Given the description of an element on the screen output the (x, y) to click on. 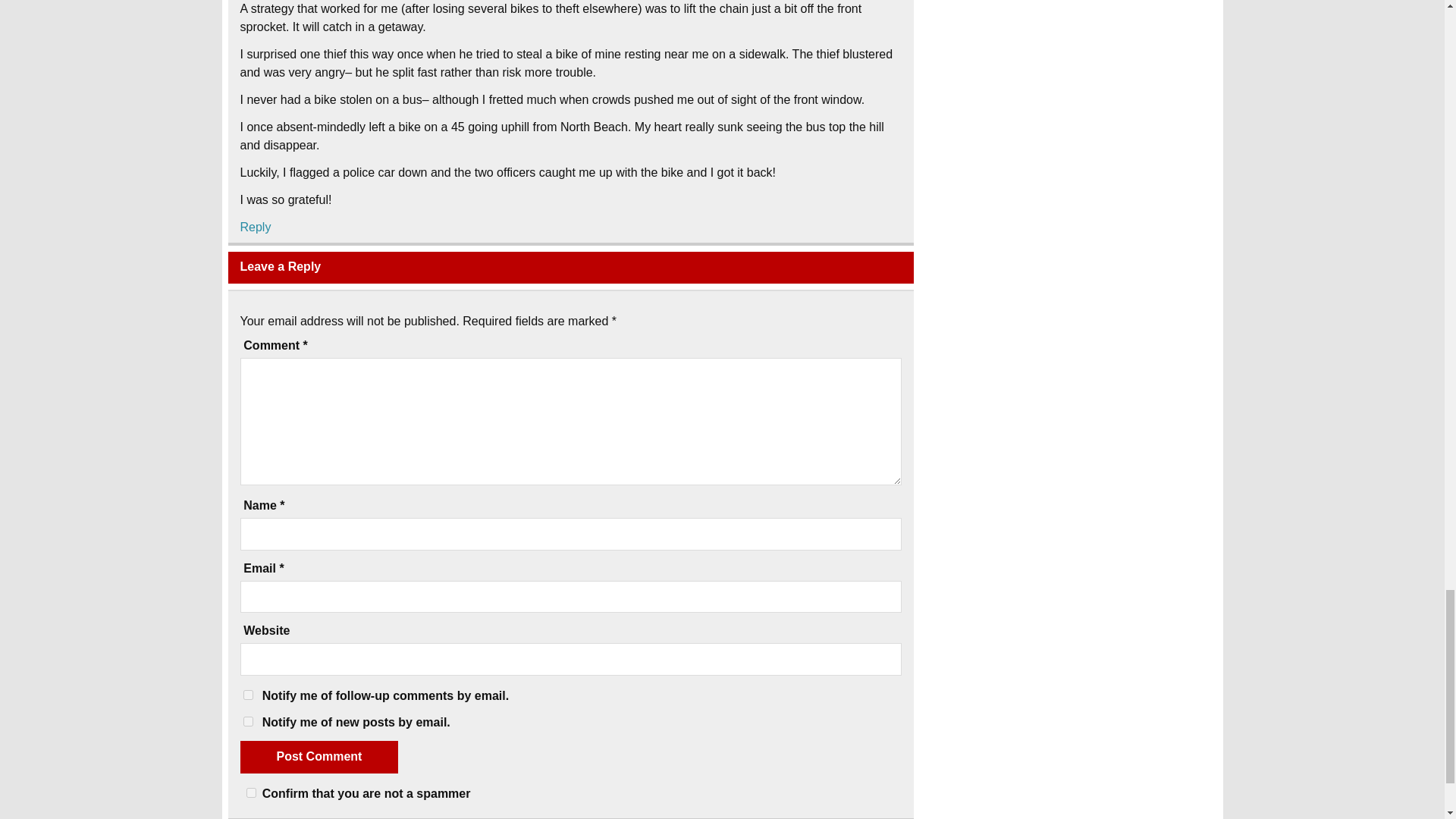
subscribe (247, 695)
subscribe (247, 721)
on (251, 792)
Post Comment (318, 757)
